Given the description of an element on the screen output the (x, y) to click on. 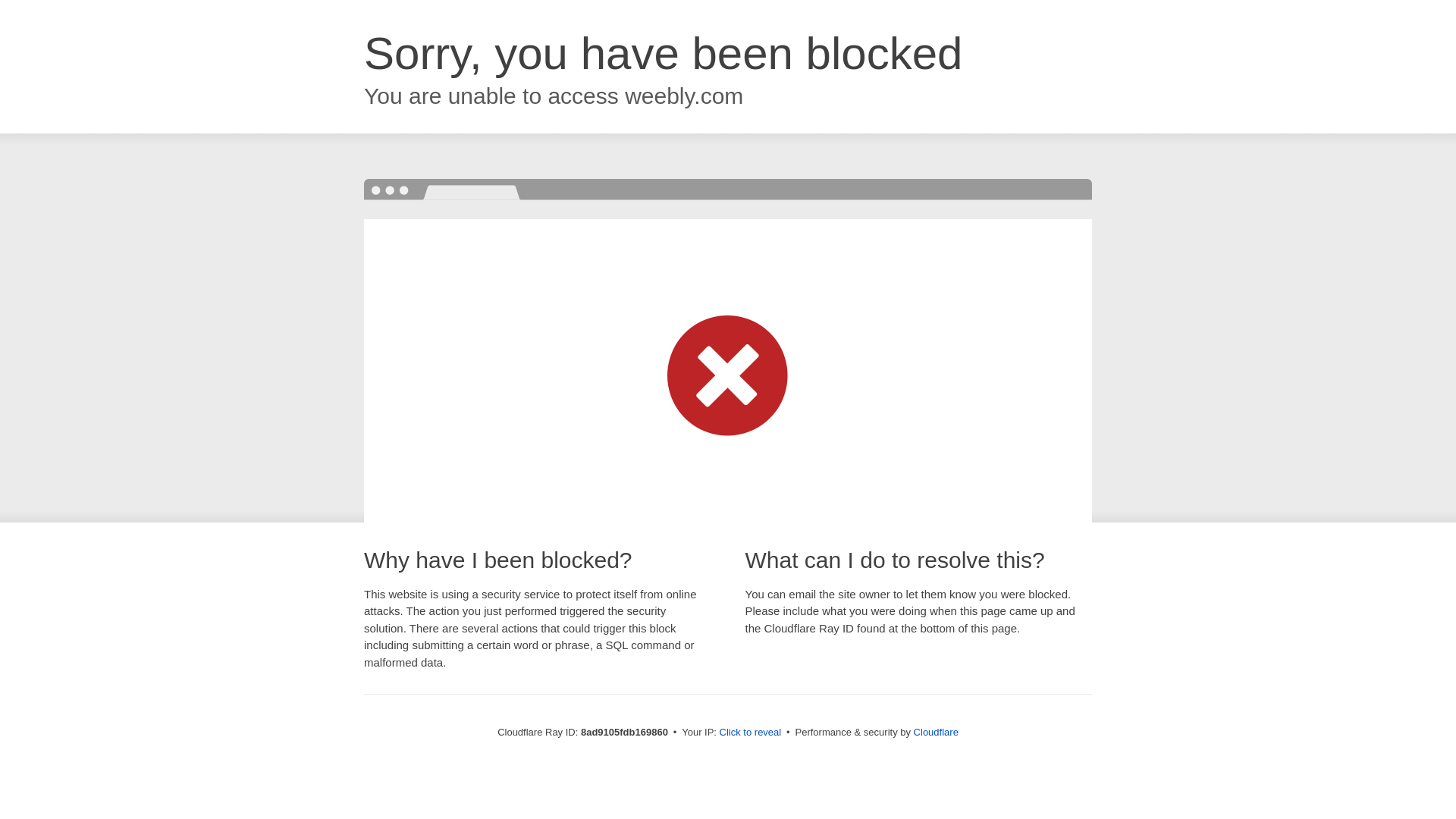
Cloudflare (936, 731)
Click to reveal (750, 732)
